Given the description of an element on the screen output the (x, y) to click on. 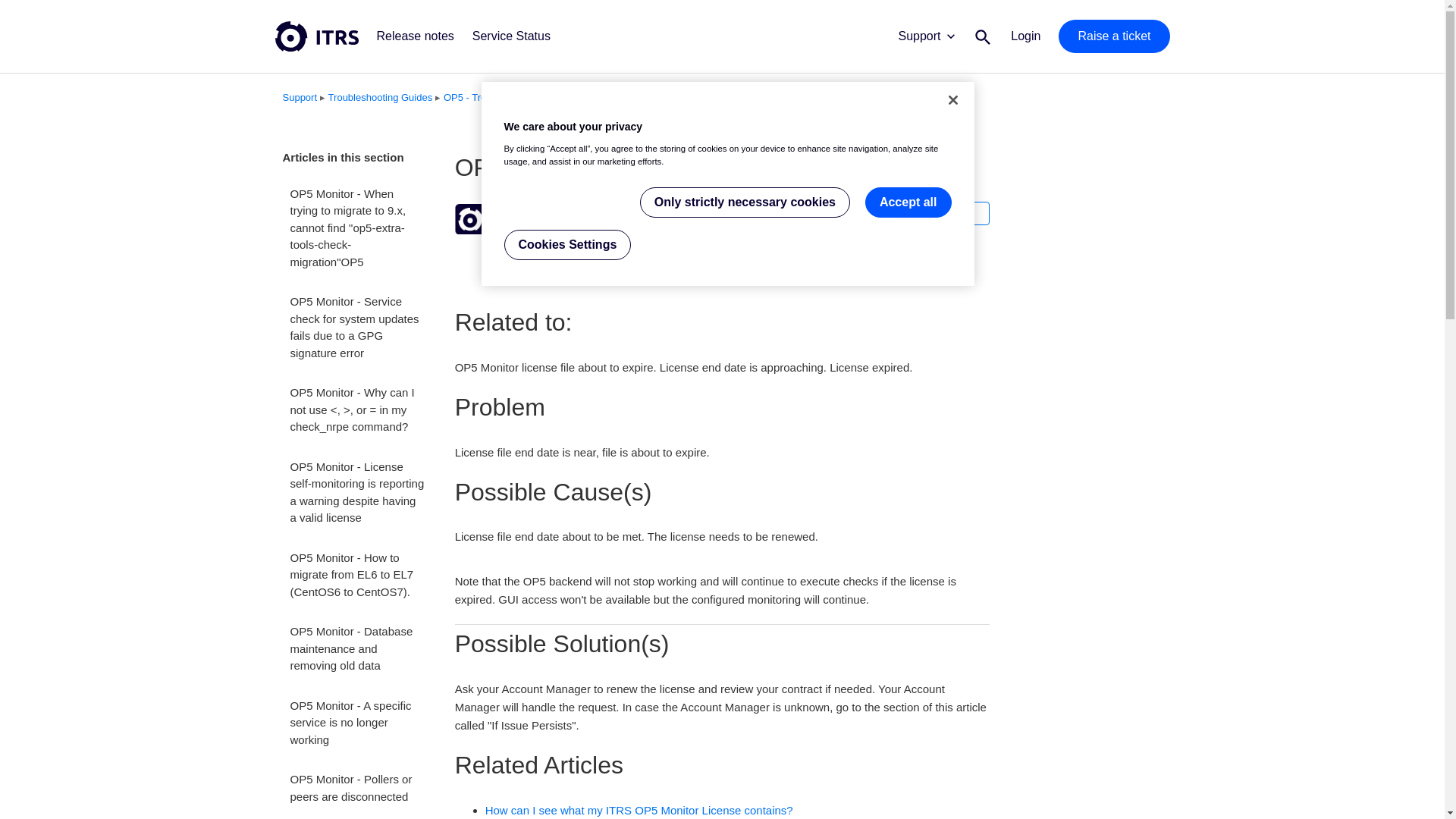
Raise a ticket (1113, 36)
OP5 Monitor - Pollers or peers are disconnected (356, 788)
OP5 - Troubleshooting Guides (510, 97)
How can I see what my ITRS OP5 Monitor License contains? (638, 809)
OP5 Monitor - Database maintenance and removing old data (356, 648)
Opens a sign-in dialog (960, 212)
ITRS homepage (316, 36)
Support (299, 97)
Troubleshooting Guides (380, 97)
OP5 Monitor - A specific service is no longer working (356, 723)
Service Status (511, 36)
